Given the description of an element on the screen output the (x, y) to click on. 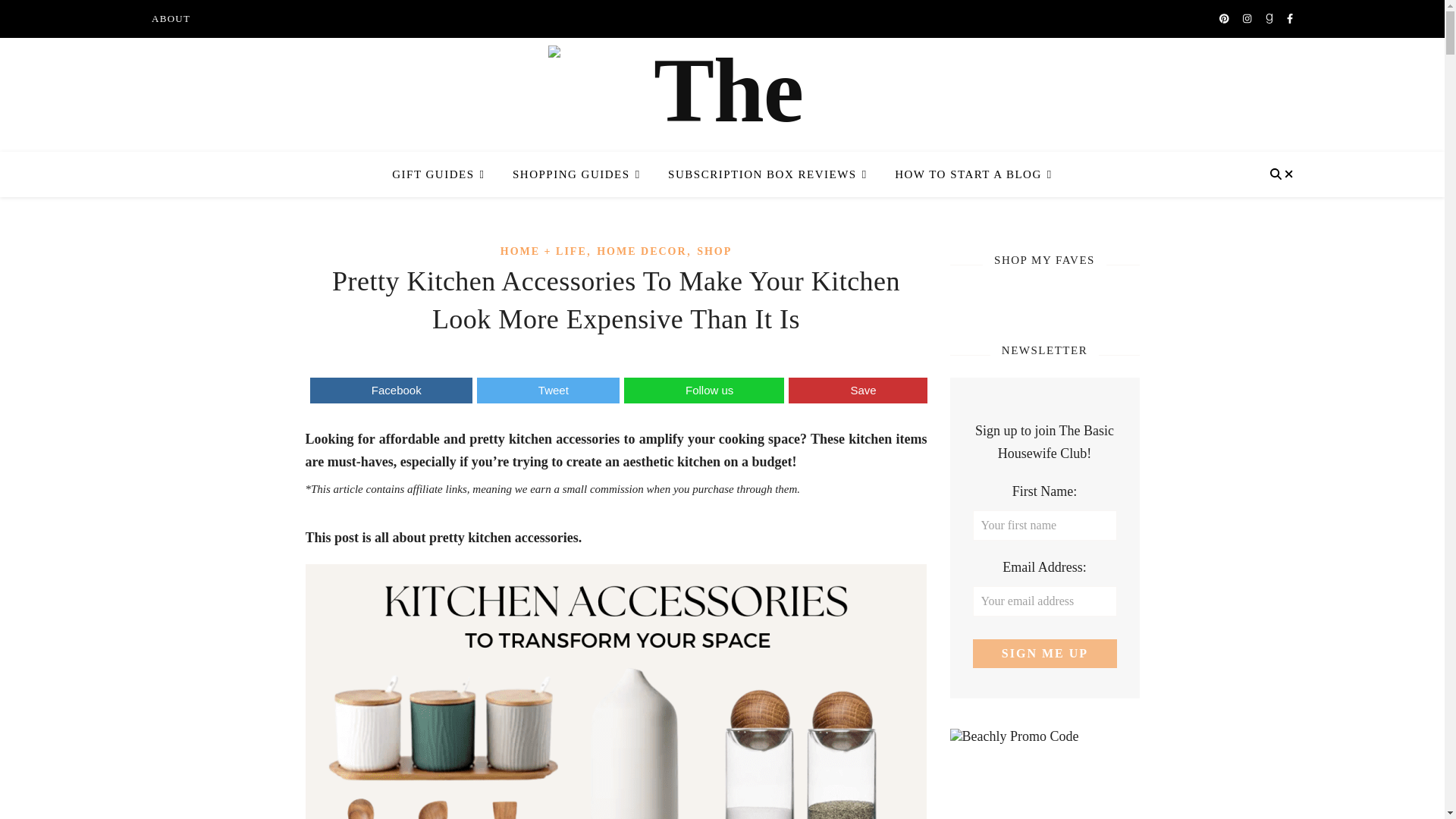
SUBSCRIPTION BOX REVIEWS (767, 174)
HOW TO START A BLOG (967, 174)
GIFT GUIDES (443, 174)
   Sign Me Up    (1044, 653)
SHOPPING GUIDES (576, 174)
ABOUT (170, 18)
The Basic Housewife (721, 96)
